Given the description of an element on the screen output the (x, y) to click on. 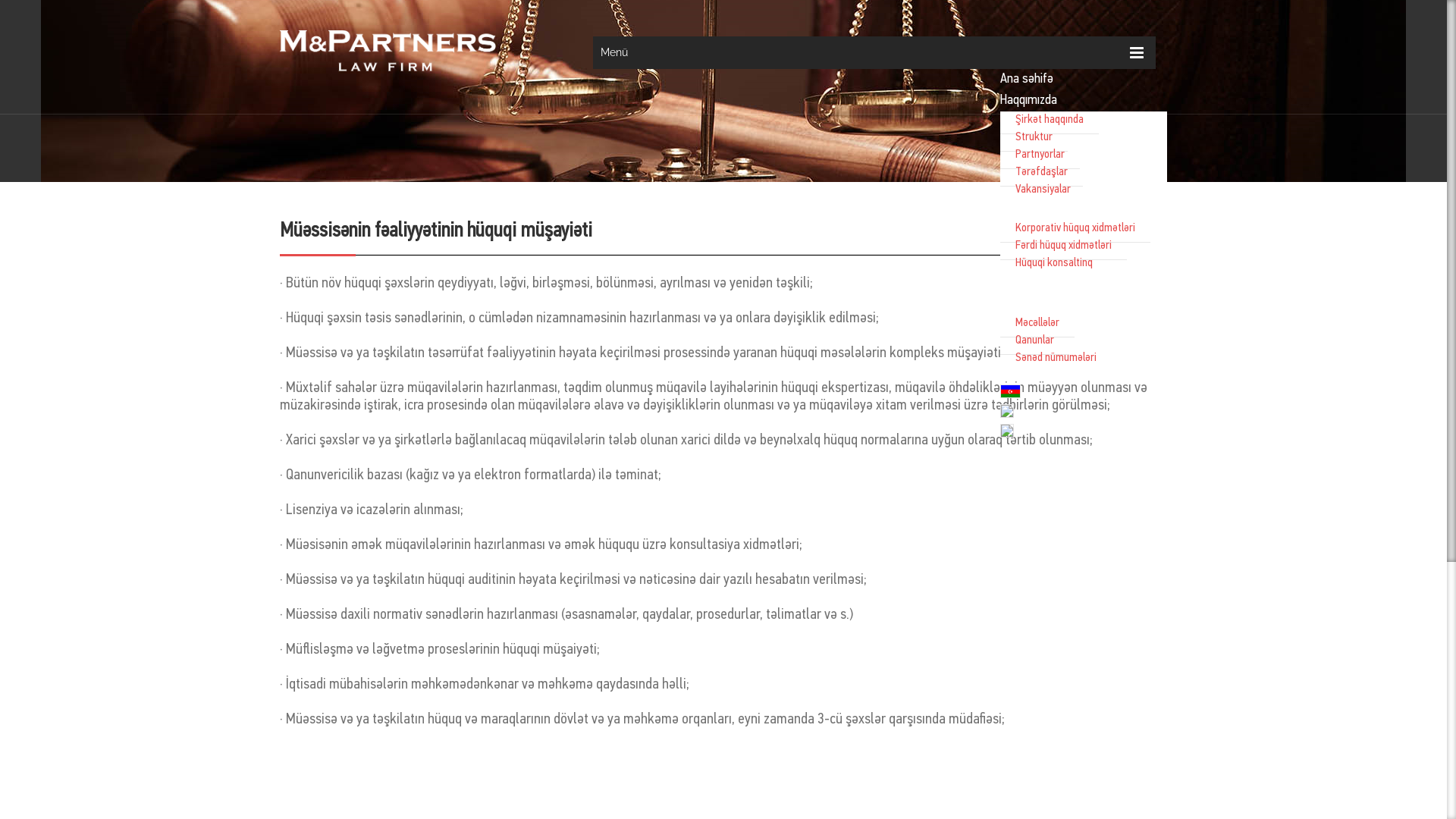
Struktur Element type: text (1033, 137)
Partnyorlar Element type: text (1039, 155)
Qanunlar Element type: text (1034, 340)
Vakansiyalar Element type: text (1042, 189)
Qanunvericilik Element type: text (1033, 303)
